Given the description of an element on the screen output the (x, y) to click on. 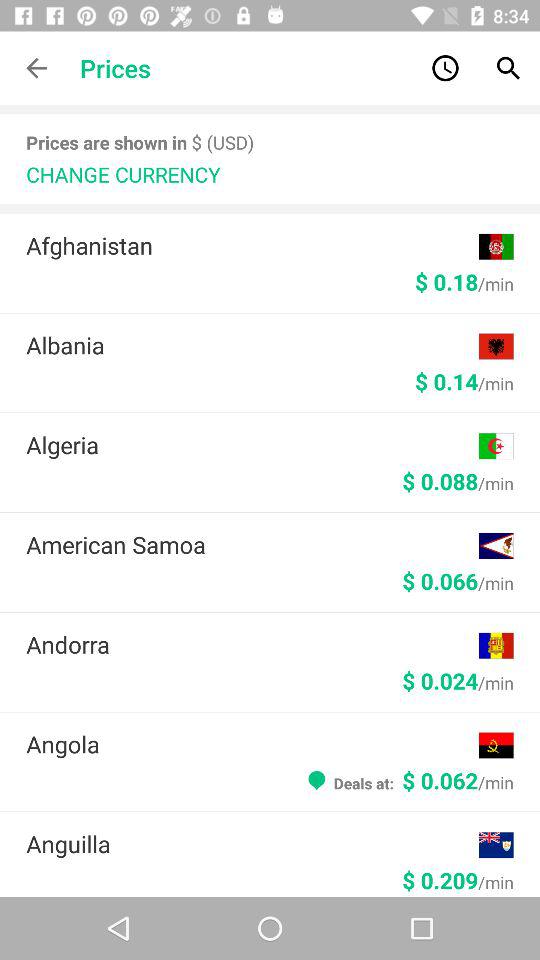
jump until american samoa icon (252, 544)
